Given the description of an element on the screen output the (x, y) to click on. 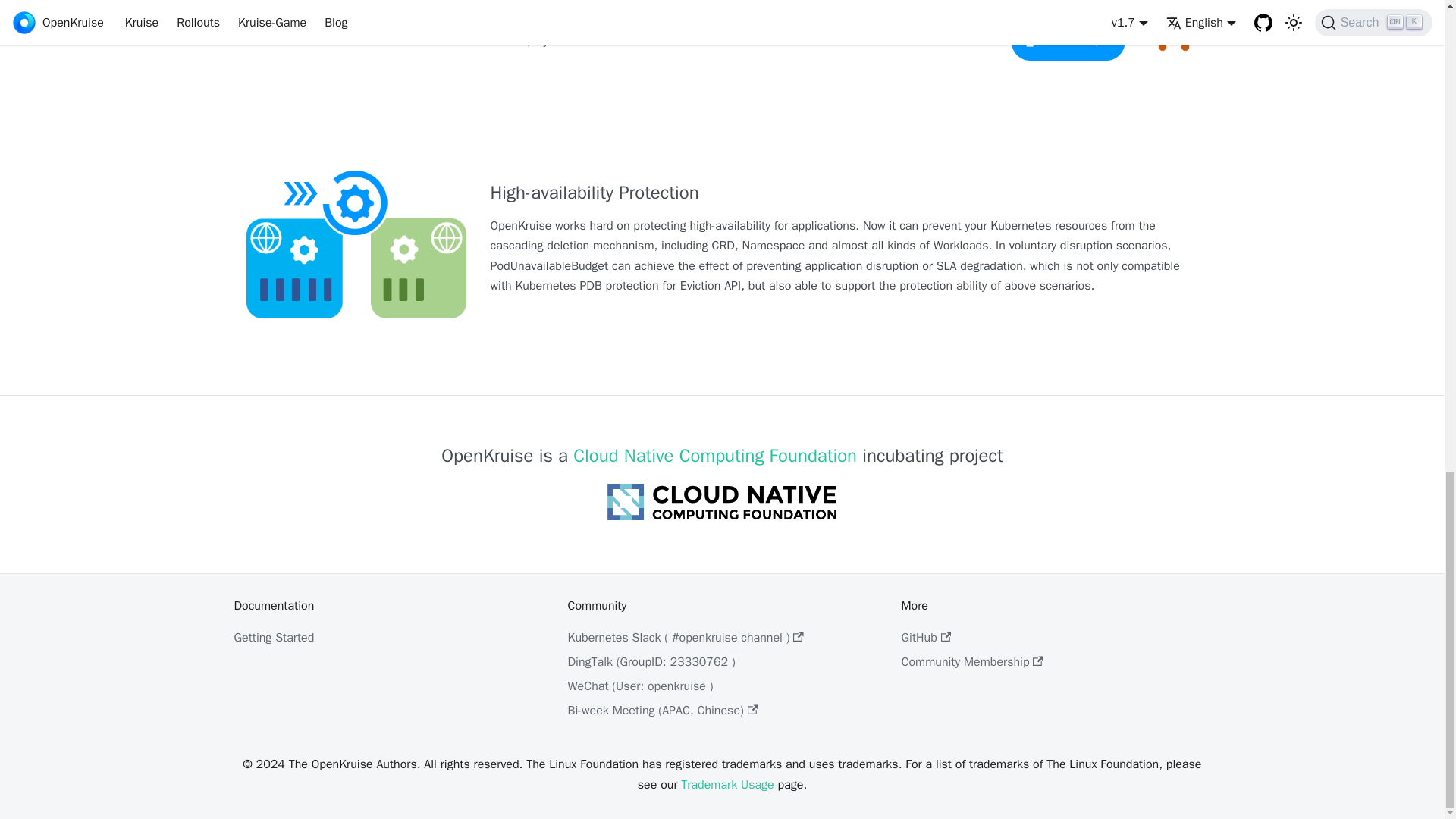
Cloud Native Computing Foundation (715, 455)
Trademark Usage (727, 784)
Getting Started (273, 637)
GitHub (925, 637)
Community Membership (971, 661)
